Given the description of an element on the screen output the (x, y) to click on. 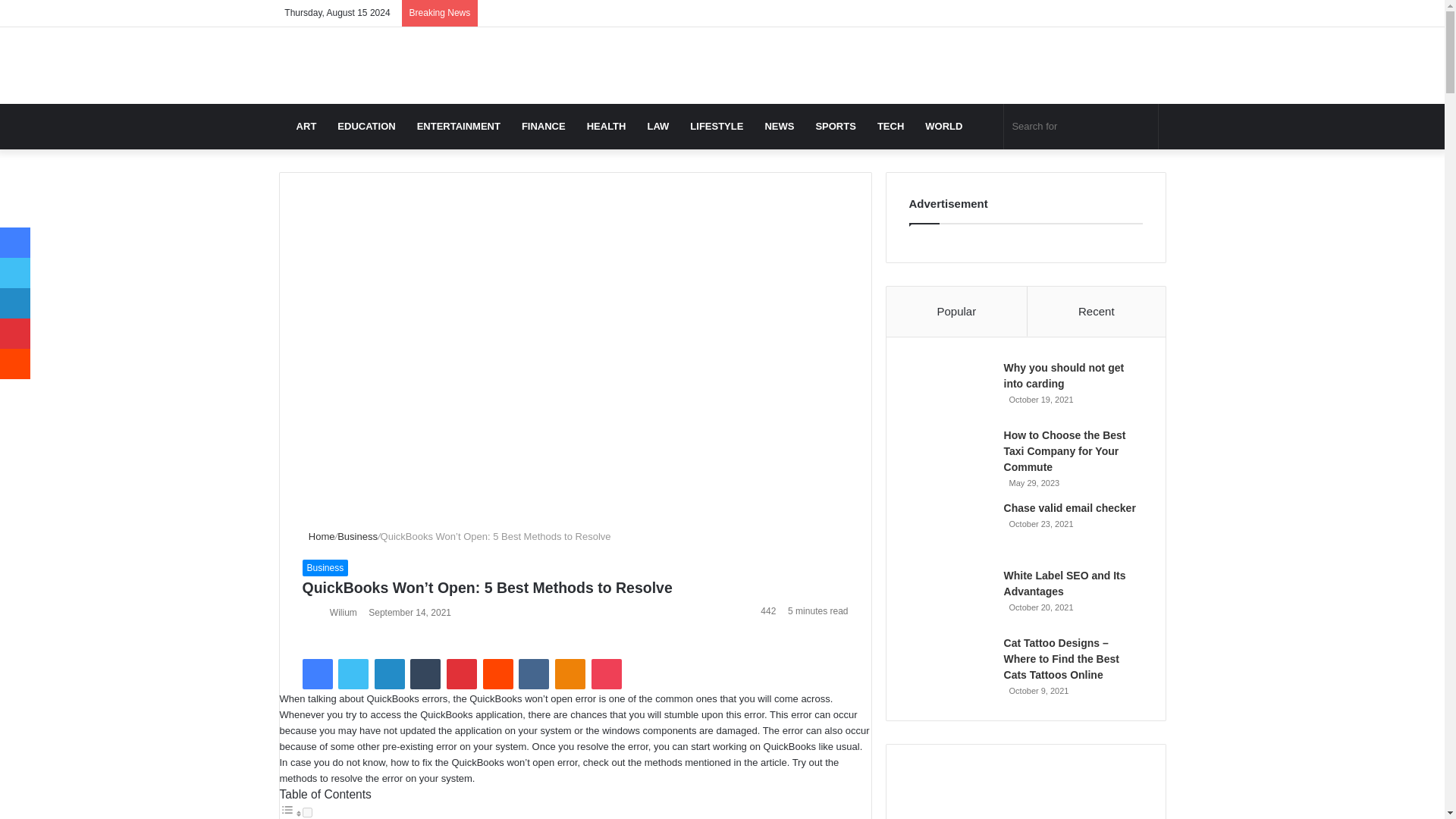
Home (317, 536)
SPORTS (835, 126)
Odnoklassniki (569, 674)
on (306, 812)
Wilium (343, 612)
Facebook (316, 674)
Pinterest (461, 674)
WORLD (943, 126)
EDUCATION (366, 126)
Facebook (316, 674)
